Given the description of an element on the screen output the (x, y) to click on. 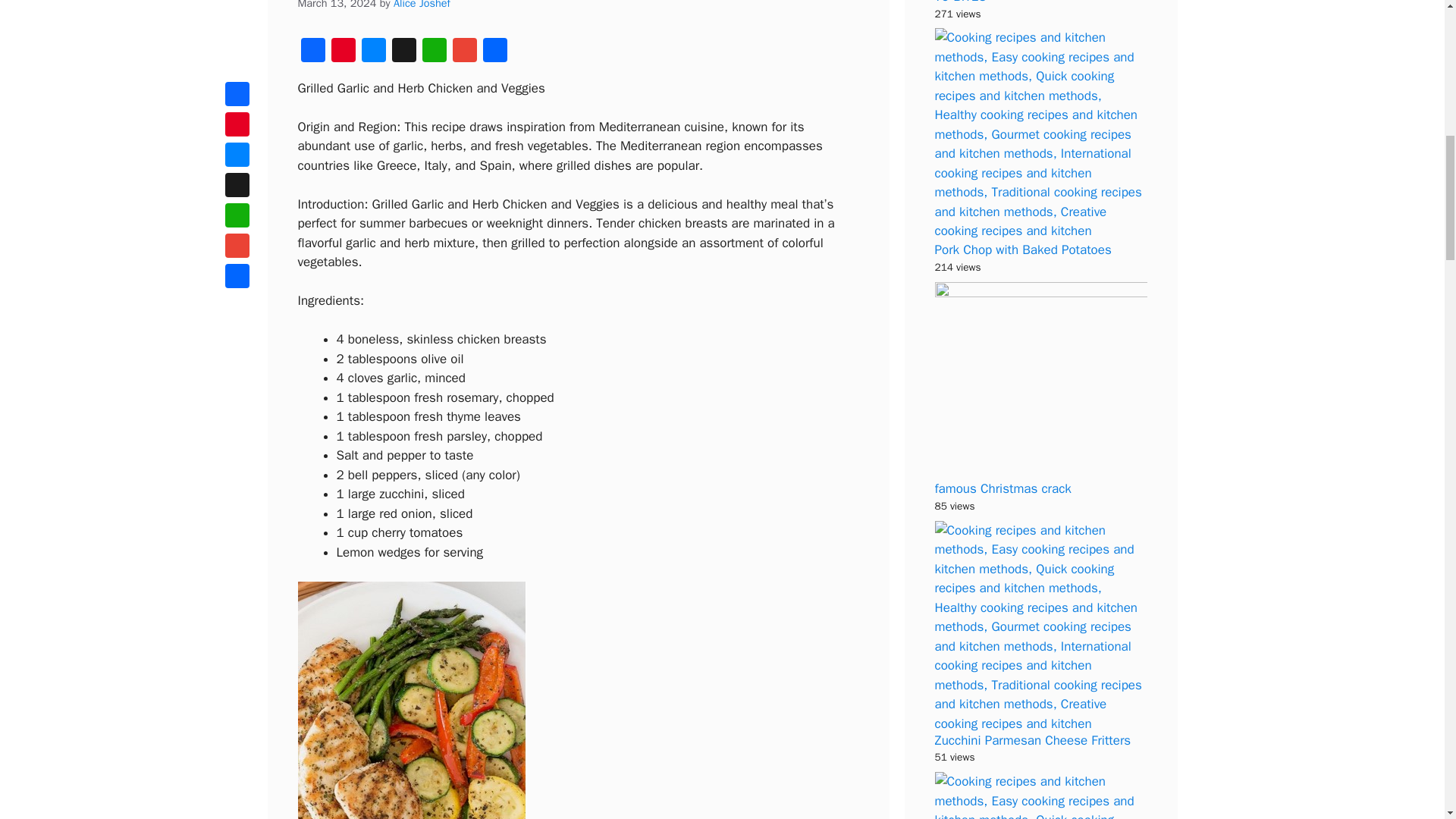
Facebook (312, 51)
Gmail (463, 51)
WhatsApp (433, 51)
Gmail (463, 51)
Messenger (373, 51)
WhatsApp (433, 51)
Messenger (373, 51)
X (403, 51)
Share (494, 51)
Alice Joshef (421, 4)
